Given the description of an element on the screen output the (x, y) to click on. 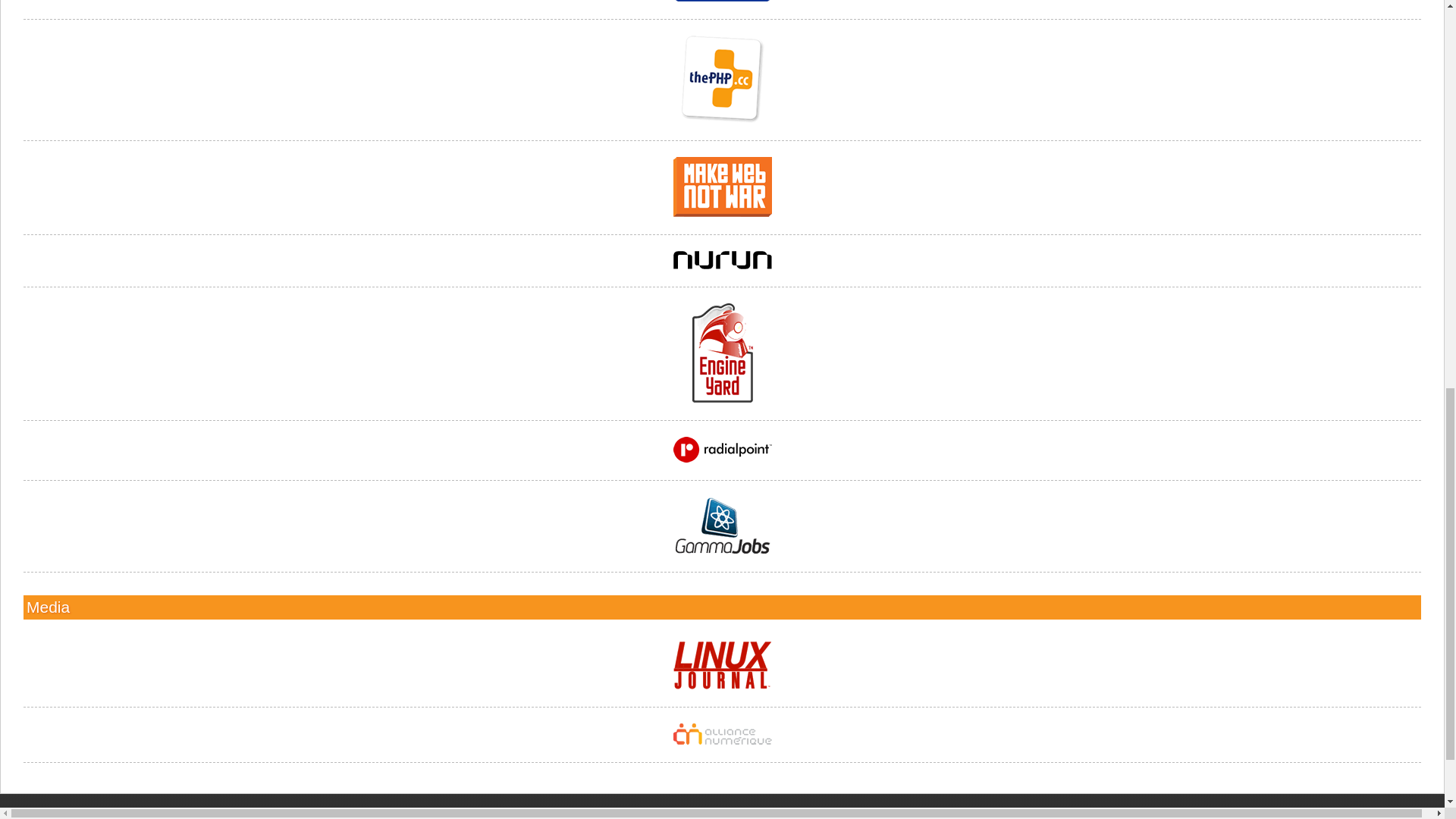
Code of Conduct (323, 809)
